Given the description of an element on the screen output the (x, y) to click on. 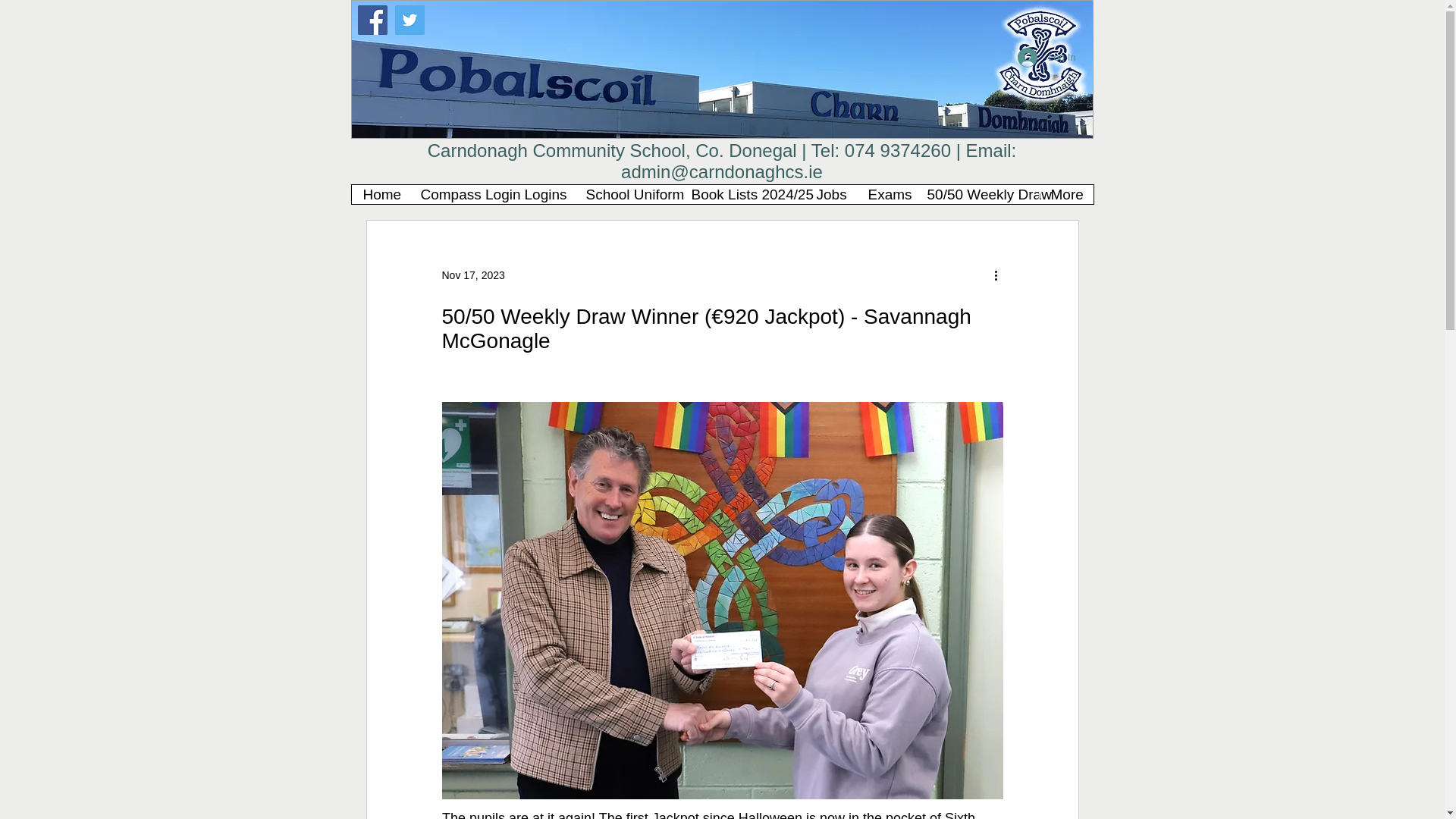
Log In (1046, 57)
Exams (885, 194)
Compass Login (459, 194)
Jobs (829, 194)
Nov 17, 2023 (472, 274)
Home (380, 194)
School Uniform (625, 194)
